Given the description of an element on the screen output the (x, y) to click on. 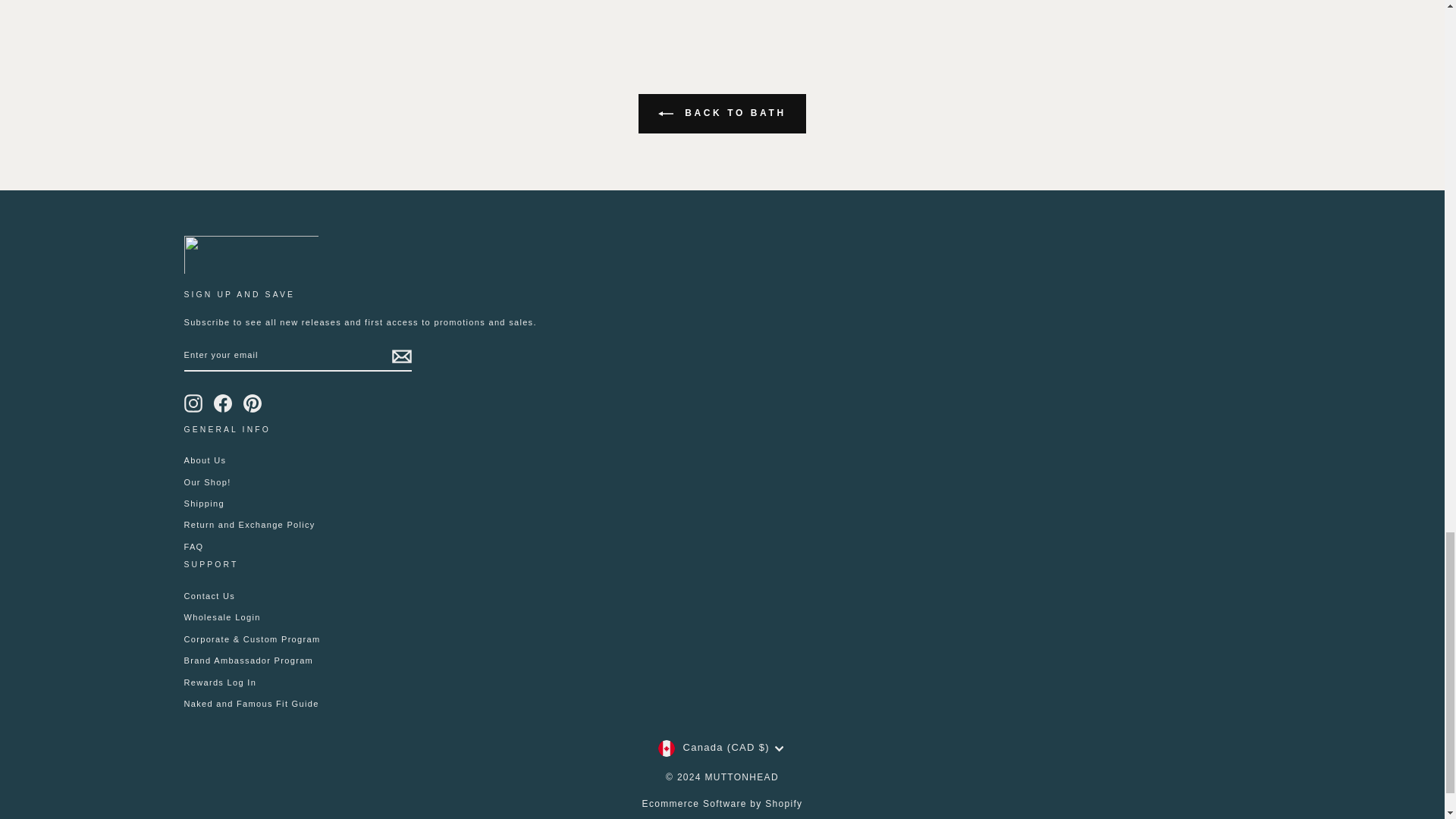
MUTTONHEAD on Pinterest (251, 402)
MUTTONHEAD on Facebook (222, 402)
MUTTONHEAD on Instagram (192, 402)
